Given the description of an element on the screen output the (x, y) to click on. 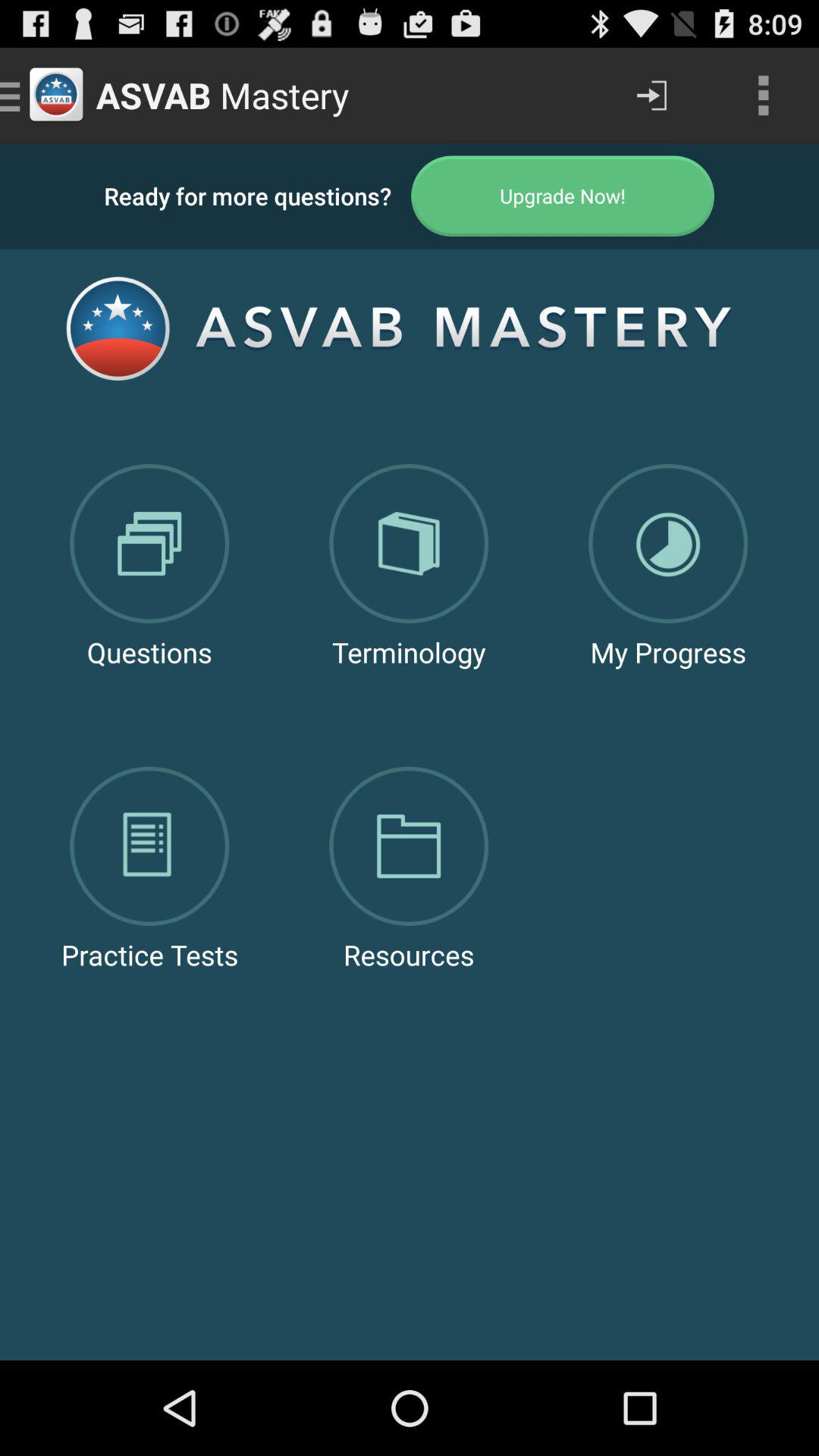
tap app next to the asvab mastery icon (651, 95)
